Given the description of an element on the screen output the (x, y) to click on. 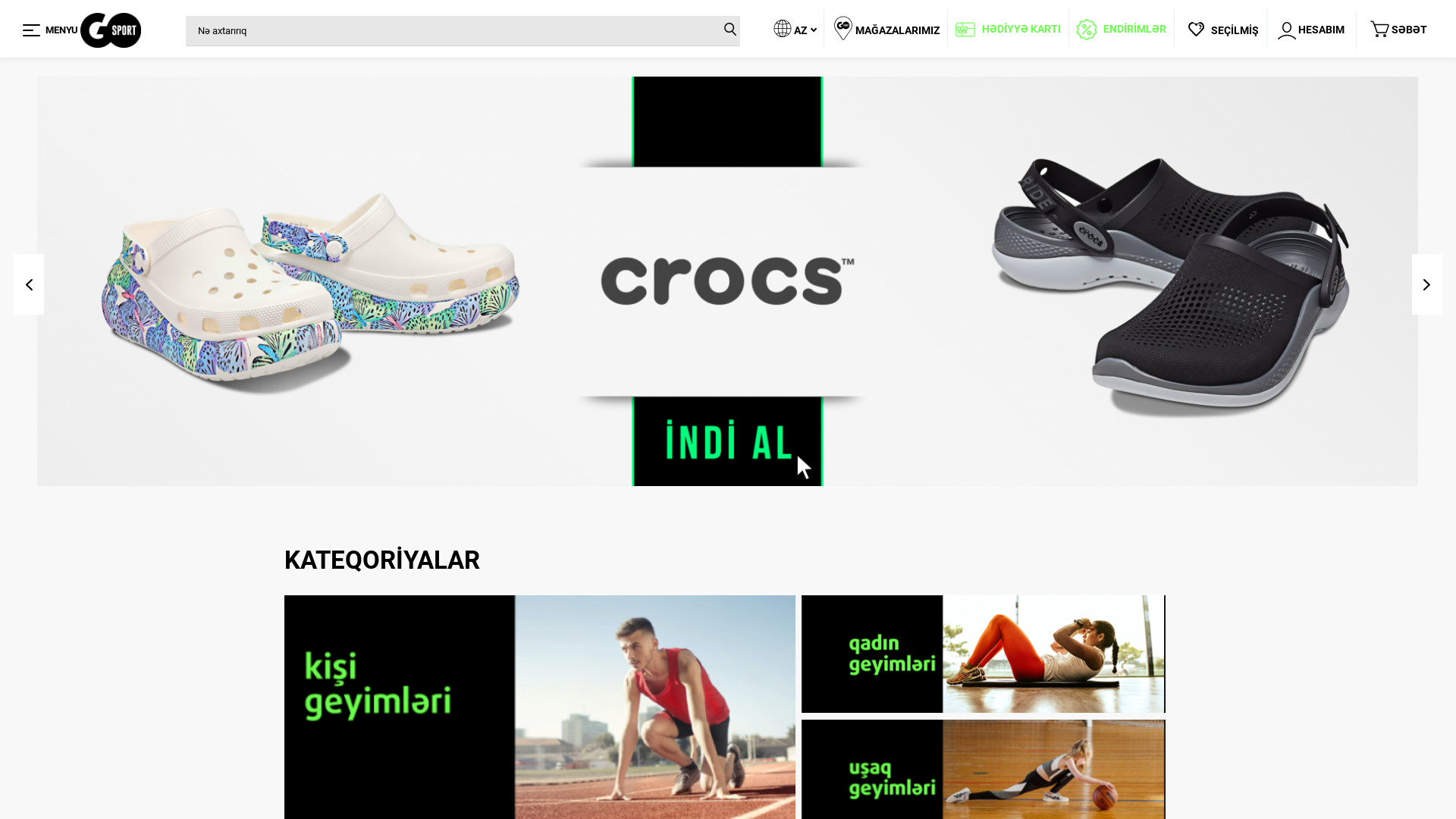
AZ Element type: text (785, 29)
MENYU Element type: text (31, 29)
Go Sport Element type: hover (110, 29)
HESABIM Element type: text (1310, 30)
